Given the description of an element on the screen output the (x, y) to click on. 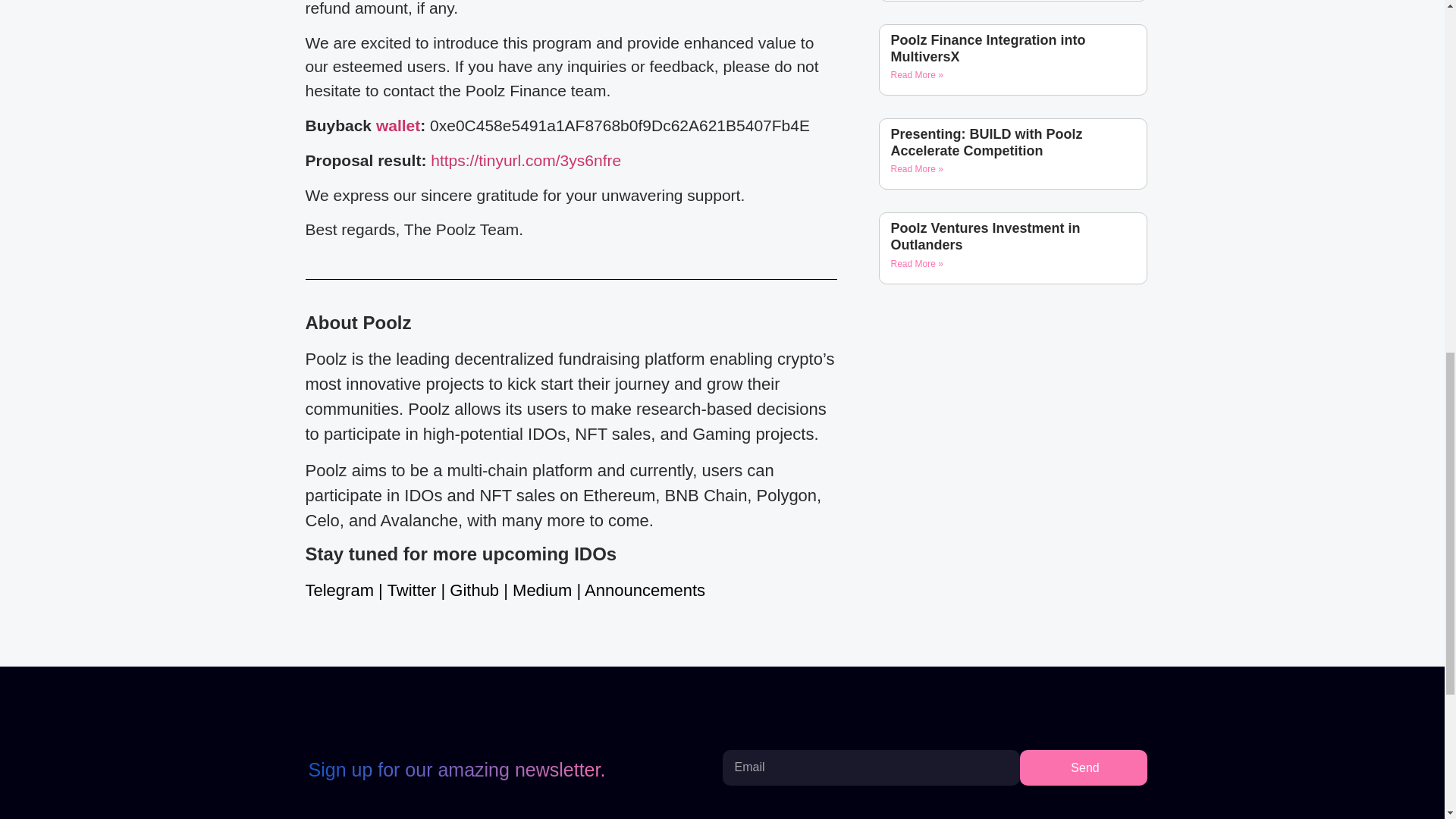
Announcements (644, 589)
Twitter (411, 589)
wallet (397, 125)
Medium (542, 589)
Github (474, 589)
Telegram (338, 589)
